Given the description of an element on the screen output the (x, y) to click on. 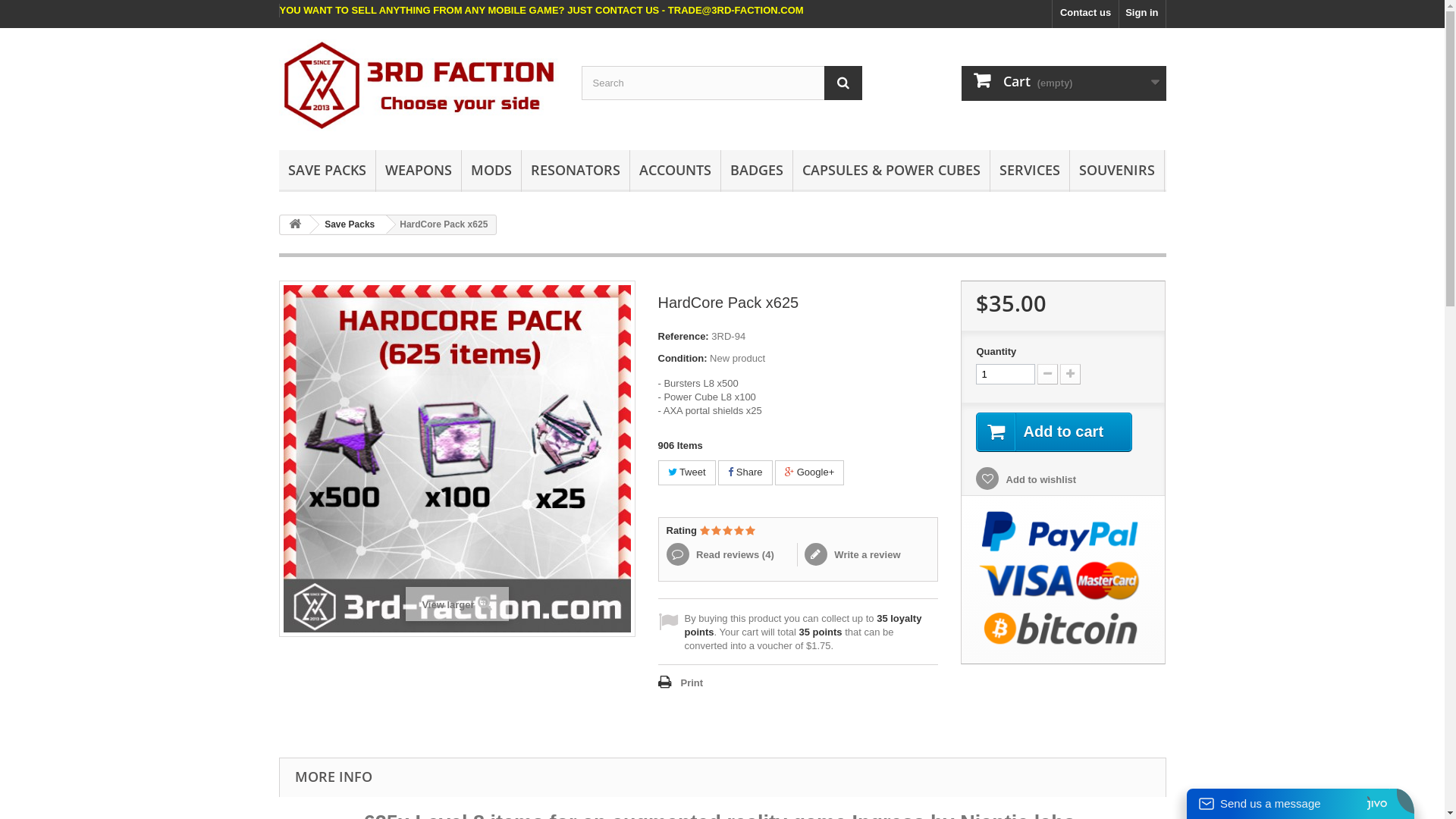
SOUVENIRS Element type: text (1116, 170)
Write a review Element type: text (852, 554)
Google+ Element type: text (809, 472)
BADGES Element type: text (755, 170)
SAVE PACKS Element type: text (327, 170)
Sign in Element type: text (1141, 14)
ACCOUNTS Element type: text (674, 170)
WEAPONS Element type: text (418, 170)
Add to wishlist Element type: text (1025, 479)
Read reviews (4) Element type: text (731, 554)
Return to Home Element type: hover (294, 224)
Share Element type: text (744, 472)
RESONATORS Element type: text (575, 170)
Save Packs Element type: text (346, 224)
MODS Element type: text (490, 170)
Contact us Element type: text (1085, 14)
Ingress Shop 3RD Faction: Buy Ingress Items Legal! Element type: hover (419, 85)
Print Element type: text (680, 682)
Add to cart Element type: text (1053, 431)
SERVICES Element type: text (1029, 170)
Tweet Element type: text (686, 472)
Cart (empty) Element type: text (1063, 82)
CAPSULES & POWER CUBES Element type: text (891, 170)
